Given the description of an element on the screen output the (x, y) to click on. 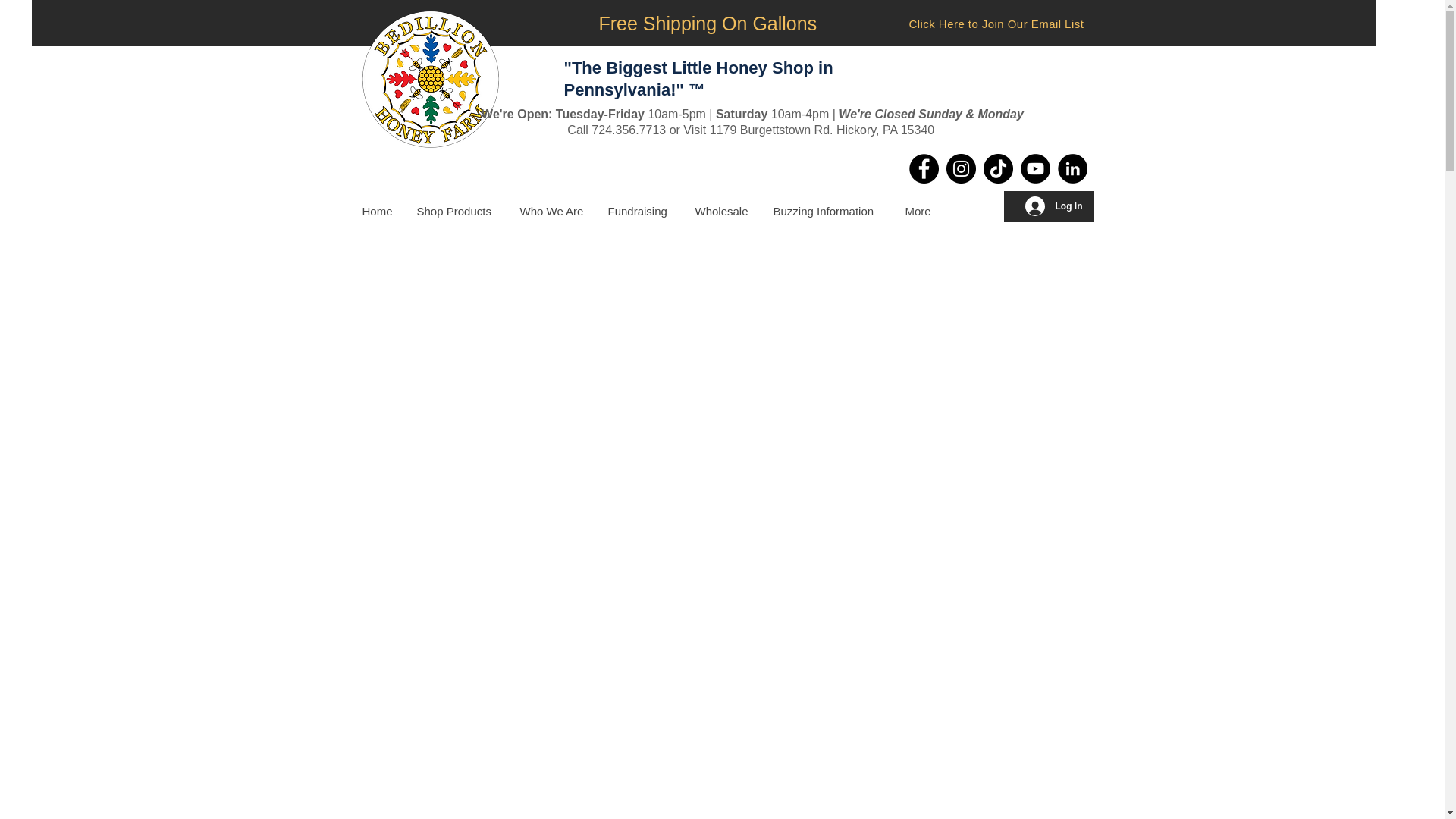
Buzzing Information (827, 210)
1179 Burgettstown Rd. Hickory, PA 15340 (822, 129)
Home (377, 210)
Log In (1053, 205)
Click Here to Join Our Email List (995, 23)
724.356.7713 (628, 129)
Wholesale (721, 210)
BedillionLogoTransparentedit4.jpg (430, 79)
Free Shipping On Gallons (707, 23)
Fundraising (638, 210)
Shop Products (456, 210)
Who We Are (551, 210)
